Given the description of an element on the screen output the (x, y) to click on. 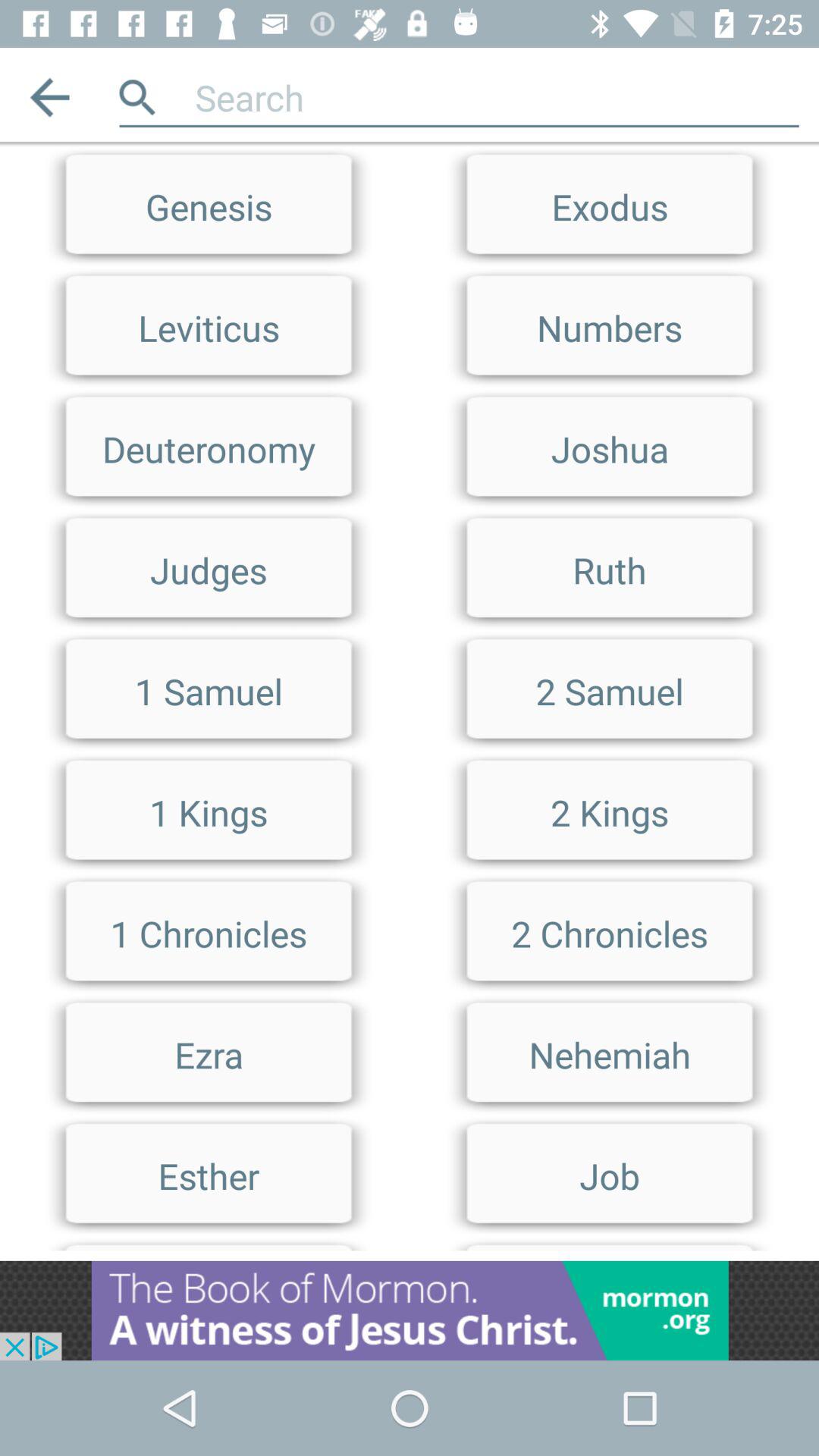
go back (49, 97)
